Given the description of an element on the screen output the (x, y) to click on. 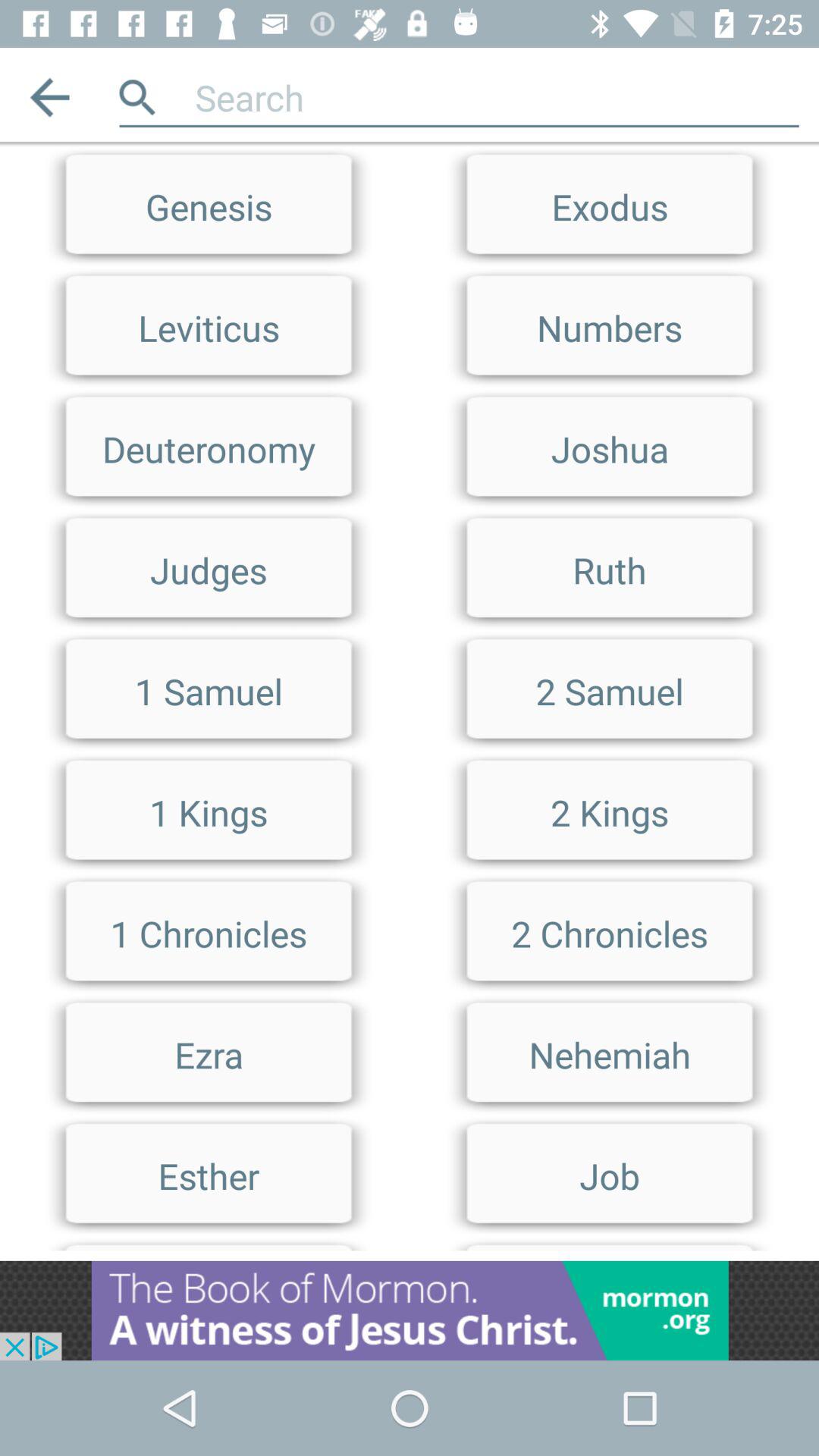
go back (49, 97)
